Given the description of an element on the screen output the (x, y) to click on. 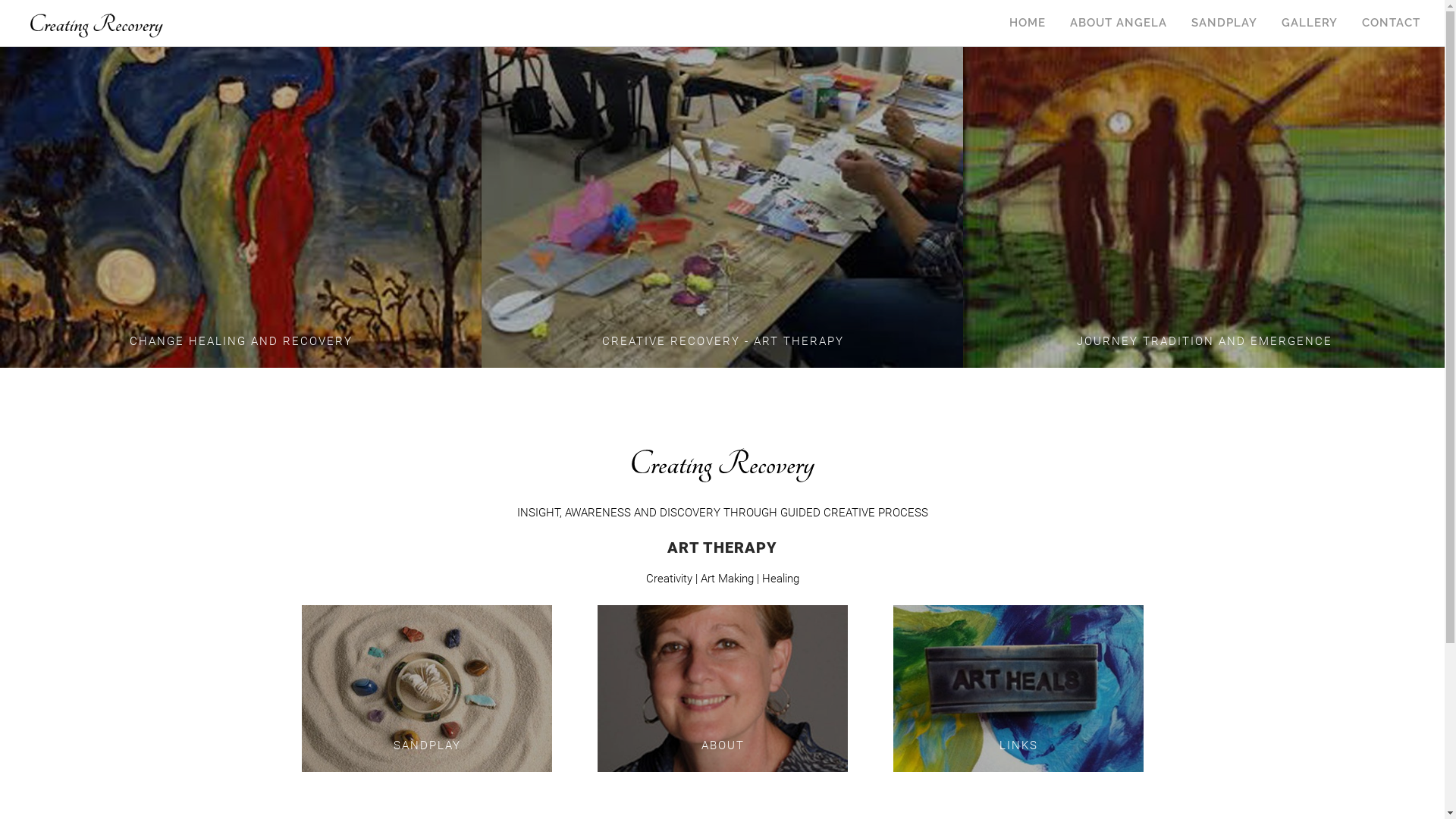
LINKS Element type: text (1018, 687)
JOURNEY TRADITION AND EMERGENCE Element type: text (1203, 206)
ABOUT Element type: text (722, 687)
SANDPLAY Element type: text (426, 687)
CONTACT Element type: text (1390, 20)
ABOUT ANGELA Element type: text (1118, 20)
SANDPLAY Element type: text (1224, 20)
HOME Element type: text (1027, 20)
CREATIVE RECOVERY - ART THERAPY Element type: text (722, 206)
CHANGE HEALING AND RECOVERY Element type: text (240, 206)
GALLERY Element type: text (1309, 20)
